Given the description of an element on the screen output the (x, y) to click on. 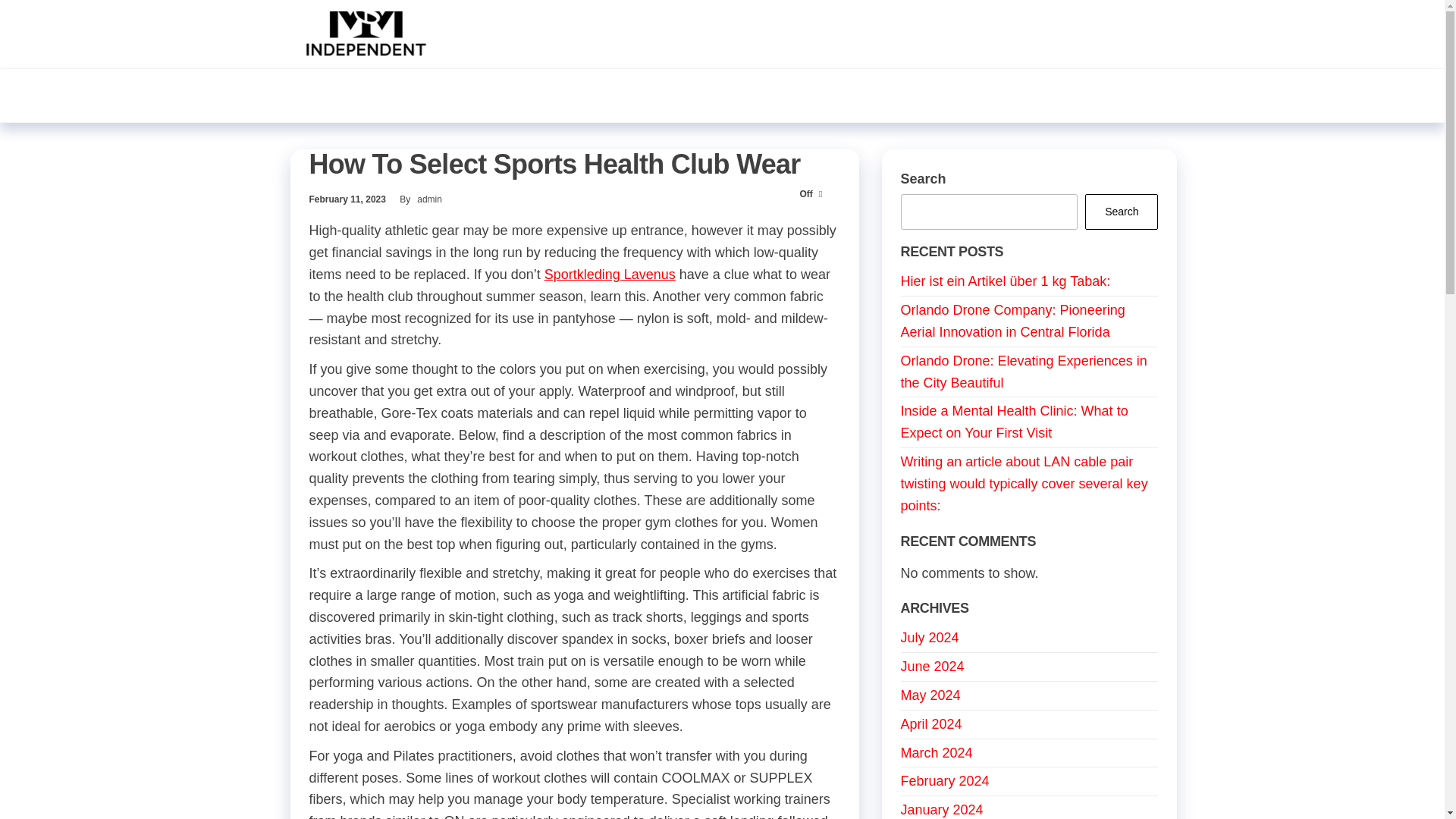
Orlando Drone: Elevating Experiences in the City Beautiful (1024, 371)
April 2024 (931, 724)
admin (429, 199)
Sportkleding Lavenus (609, 273)
May 2024 (930, 694)
March 2024 (936, 752)
February 2024 (945, 780)
July 2024 (930, 637)
June 2024 (932, 666)
January 2024 (942, 809)
Search (1120, 212)
